Given the description of an element on the screen output the (x, y) to click on. 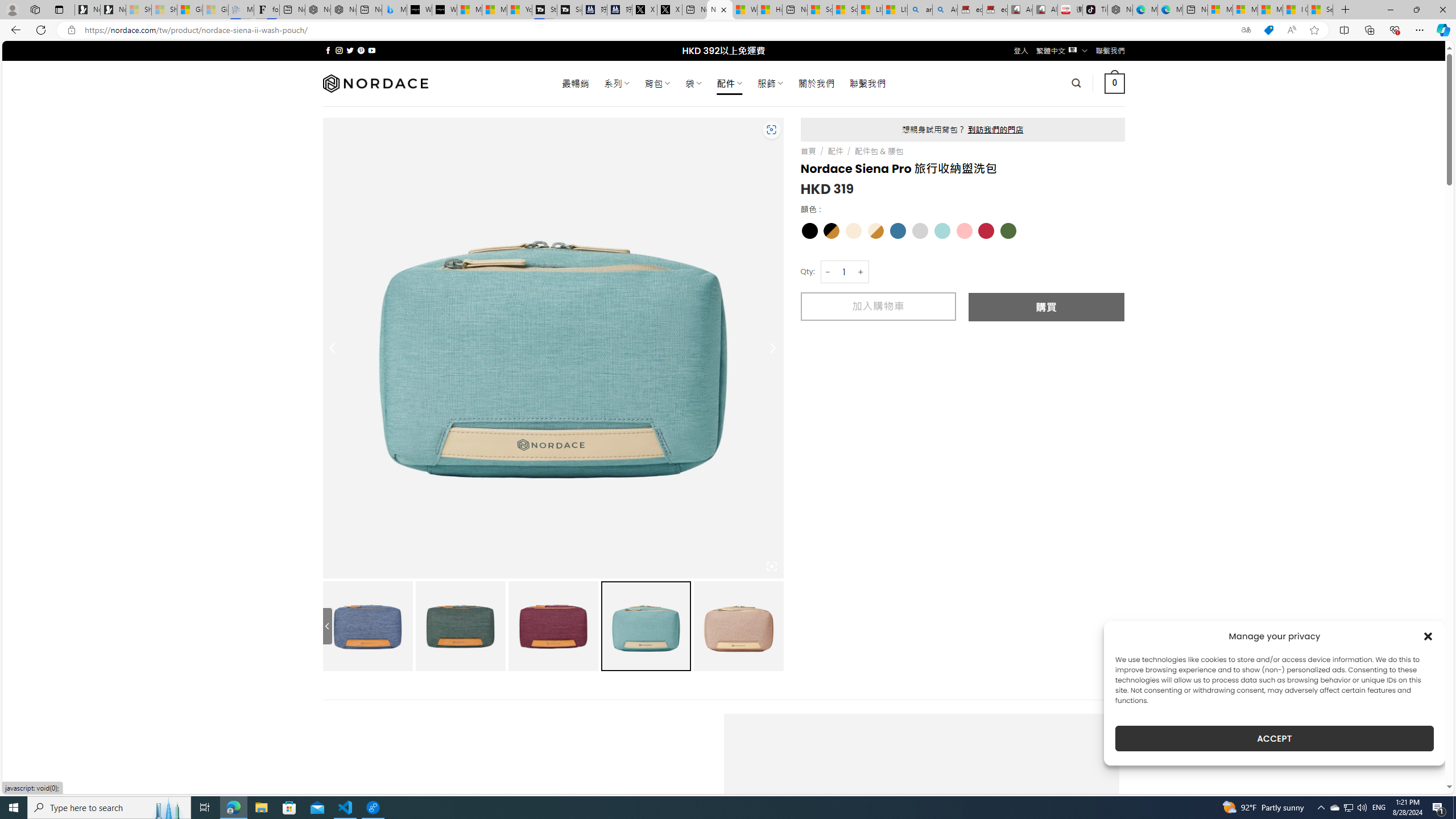
New Tab (1346, 9)
Nordace (374, 83)
Class: cmplz-close (1428, 636)
Amazon Echo Dot PNG - Search Images (944, 9)
Nordace - #1 Japanese Best-Seller - Siena Smart Backpack (343, 9)
Follow on YouTube (371, 50)
